Given the description of an element on the screen output the (x, y) to click on. 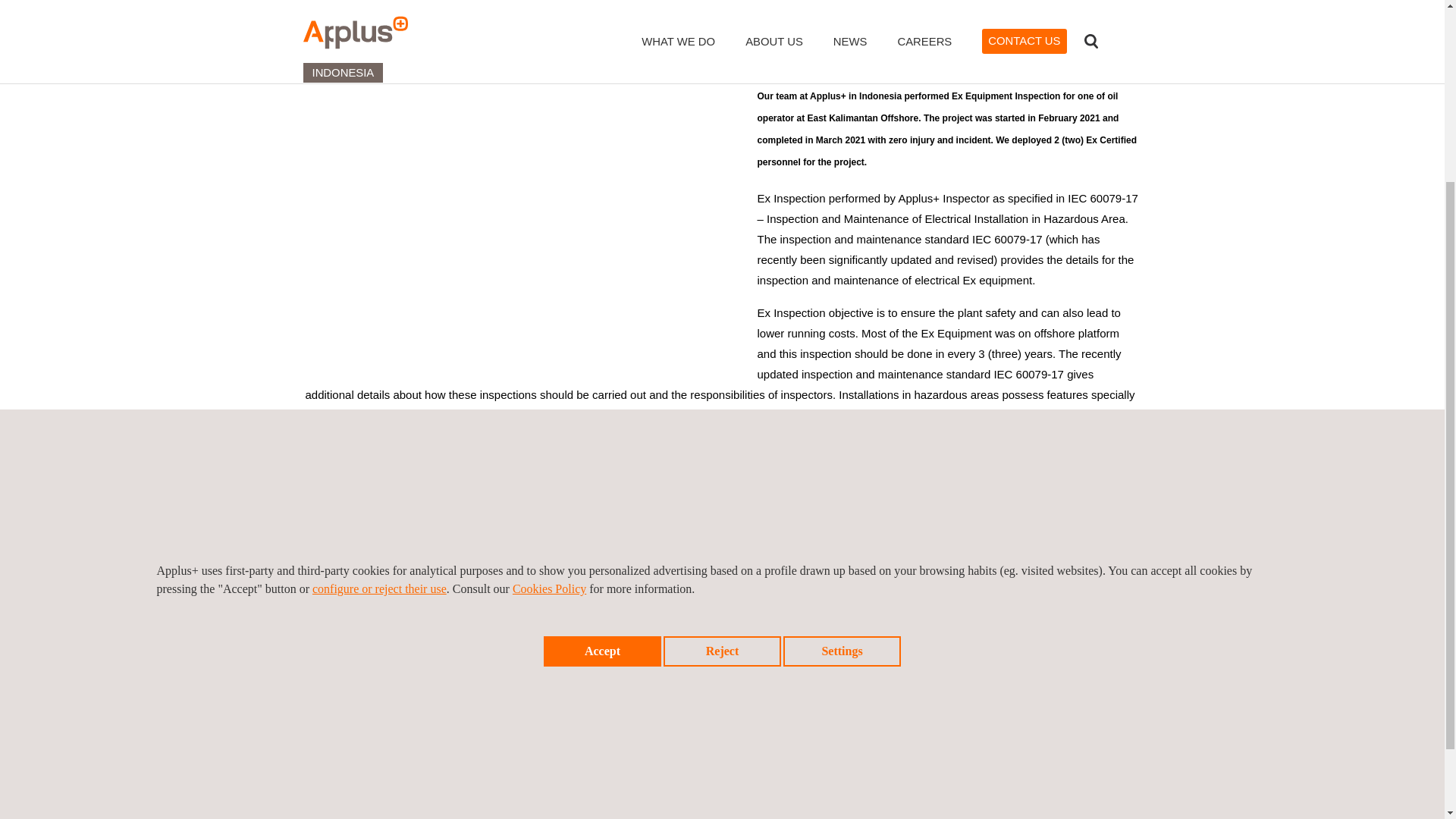
Return to news (364, 687)
Previous news (888, 681)
Next news (1096, 681)
